Given the description of an element on the screen output the (x, y) to click on. 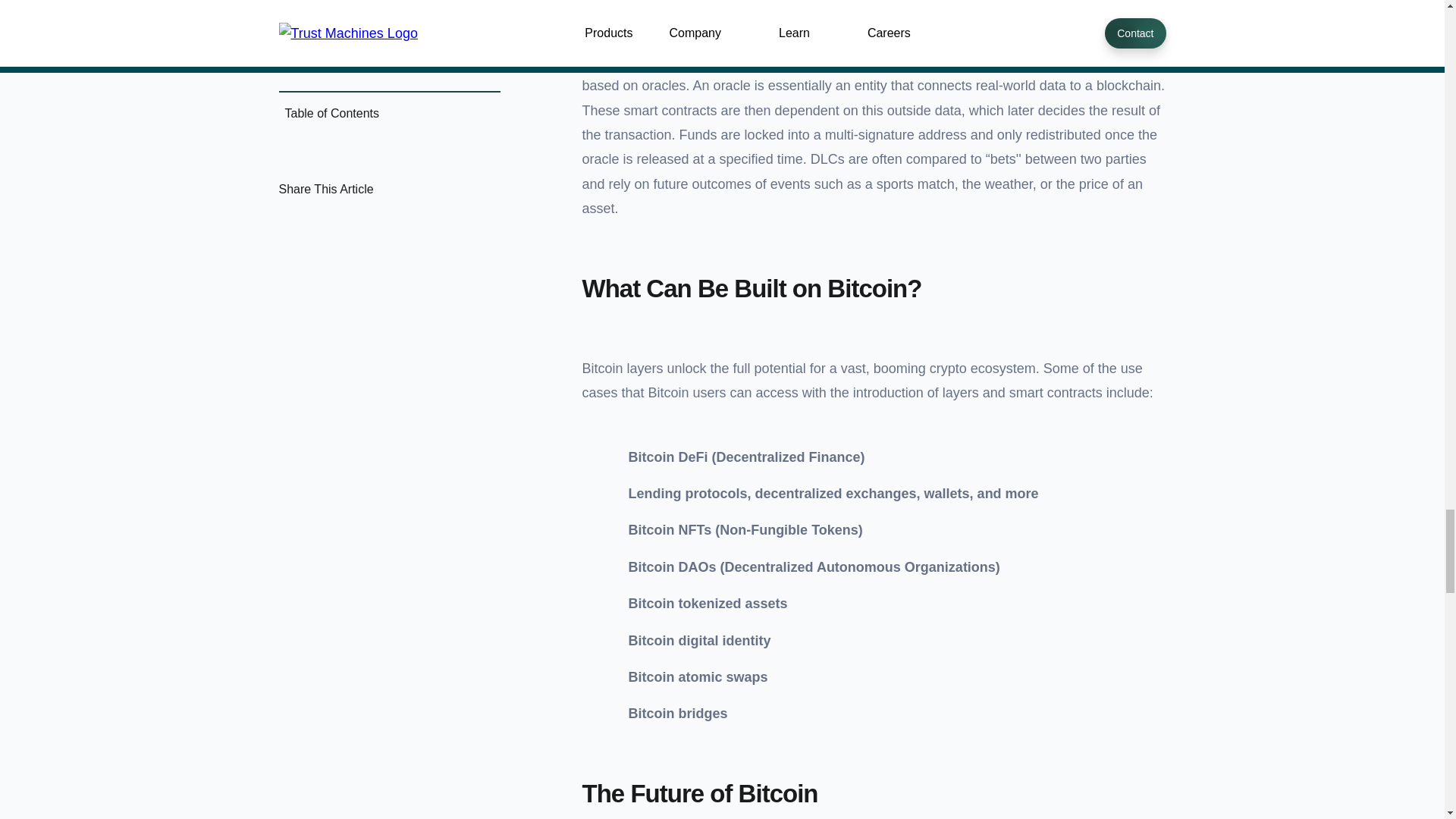
Discreet Log Contracts (651, 61)
